Given the description of an element on the screen output the (x, y) to click on. 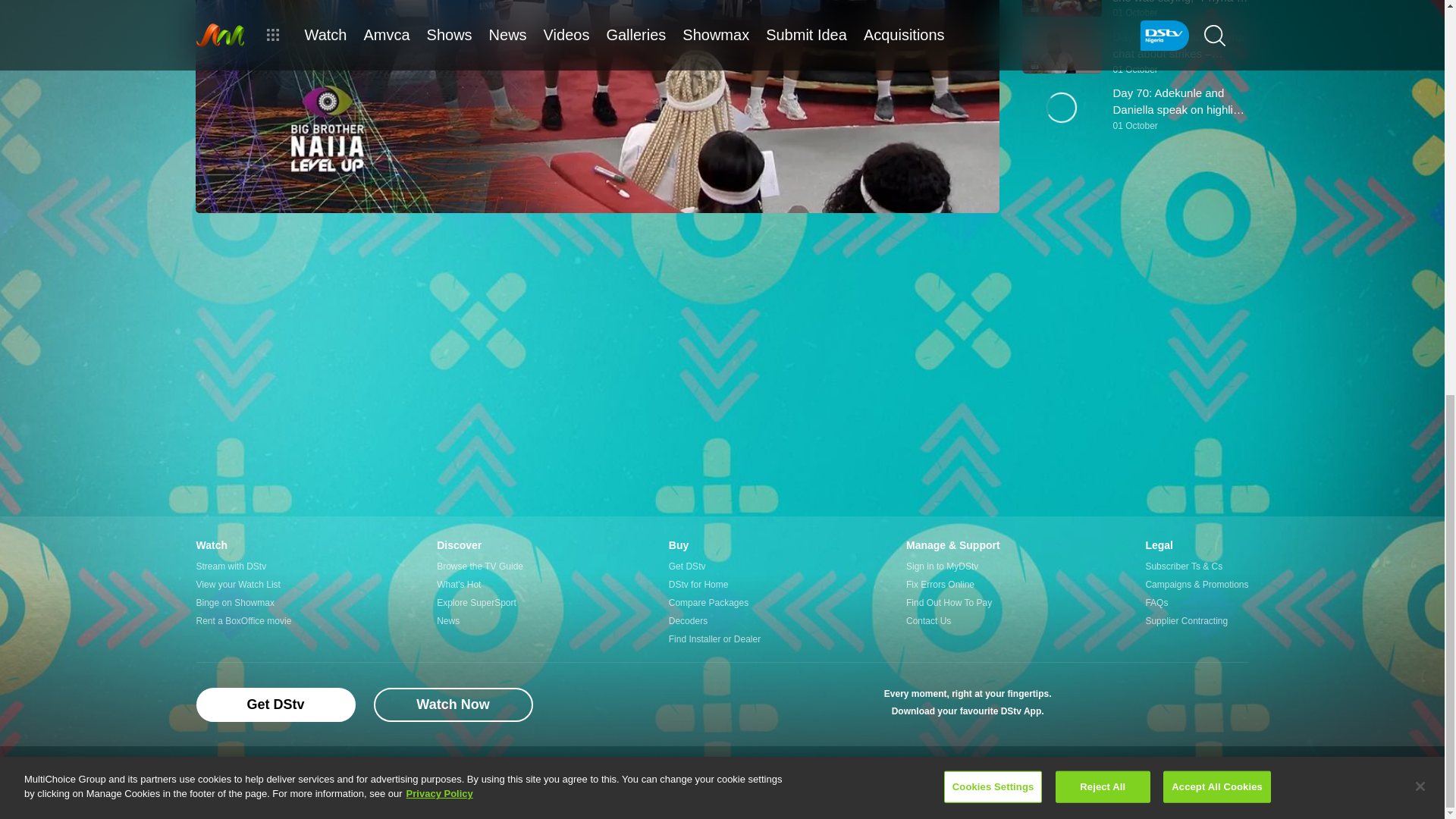
Binge on Showmax (243, 602)
View your Watch List (243, 584)
Browse the TV Guide (479, 566)
Sign in to MyDStv (952, 566)
News (479, 620)
Contact Us (952, 620)
SuperSport (1228, 704)
Find Out How To Pay (952, 602)
FAQs (1195, 602)
Showmax (1180, 704)
